Given the description of an element on the screen output the (x, y) to click on. 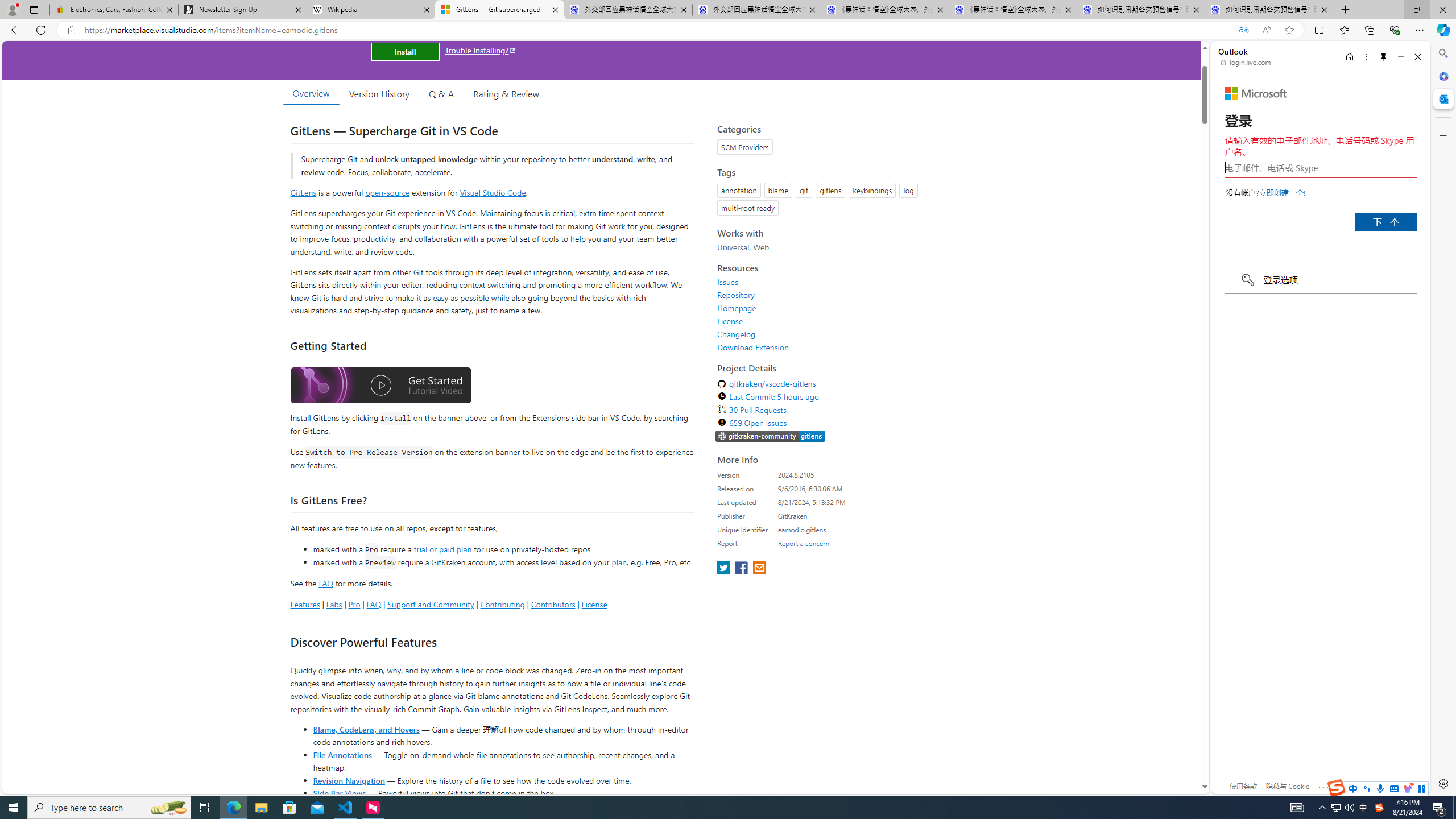
Rating & Review (505, 92)
Download Extension (753, 346)
Translated (1243, 29)
License (729, 320)
Watch the GitLens Getting Started video (380, 387)
Q & A (441, 92)
Support and Community (430, 603)
